Given the description of an element on the screen output the (x, y) to click on. 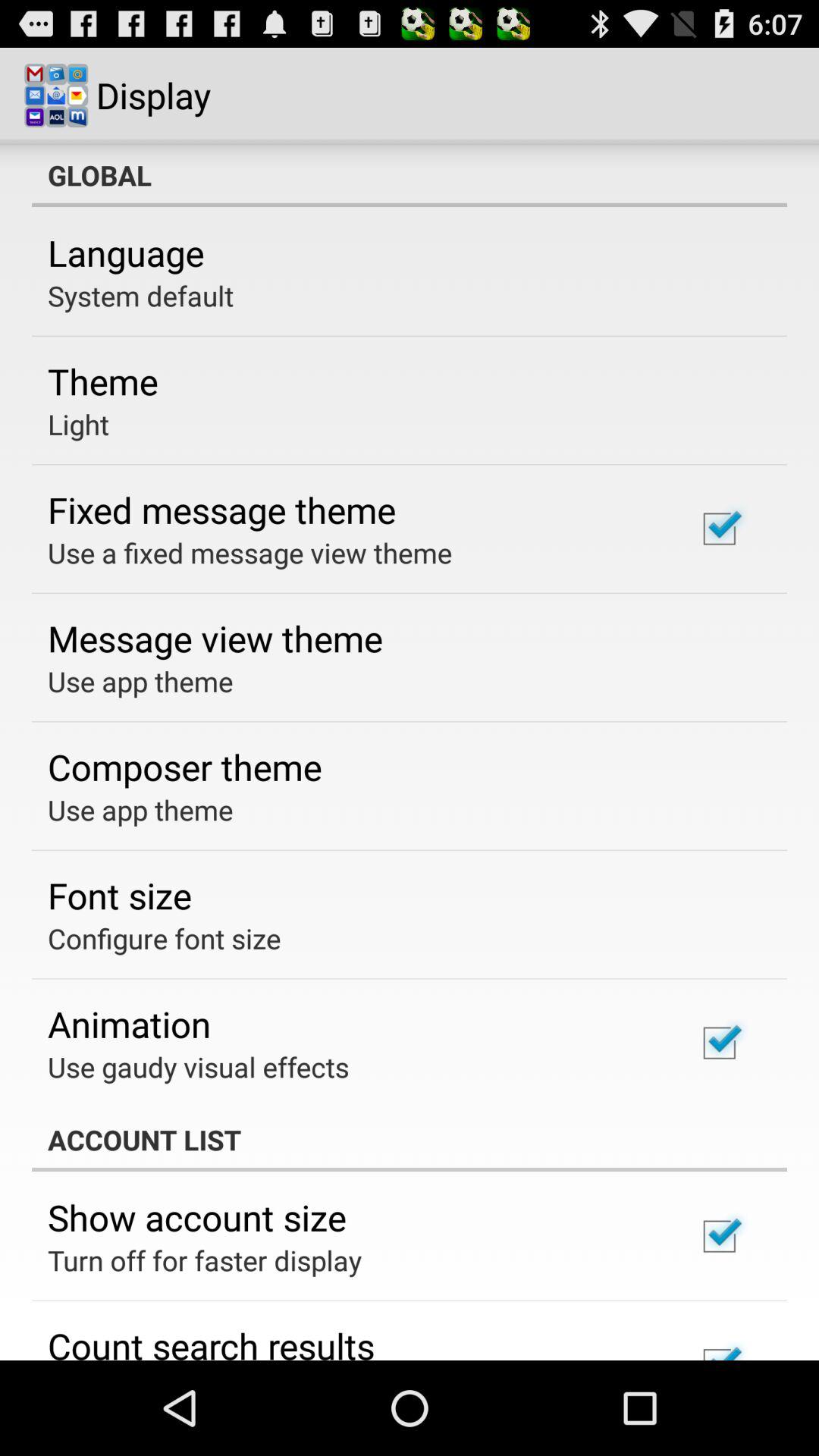
choose show account size icon (196, 1217)
